Given the description of an element on the screen output the (x, y) to click on. 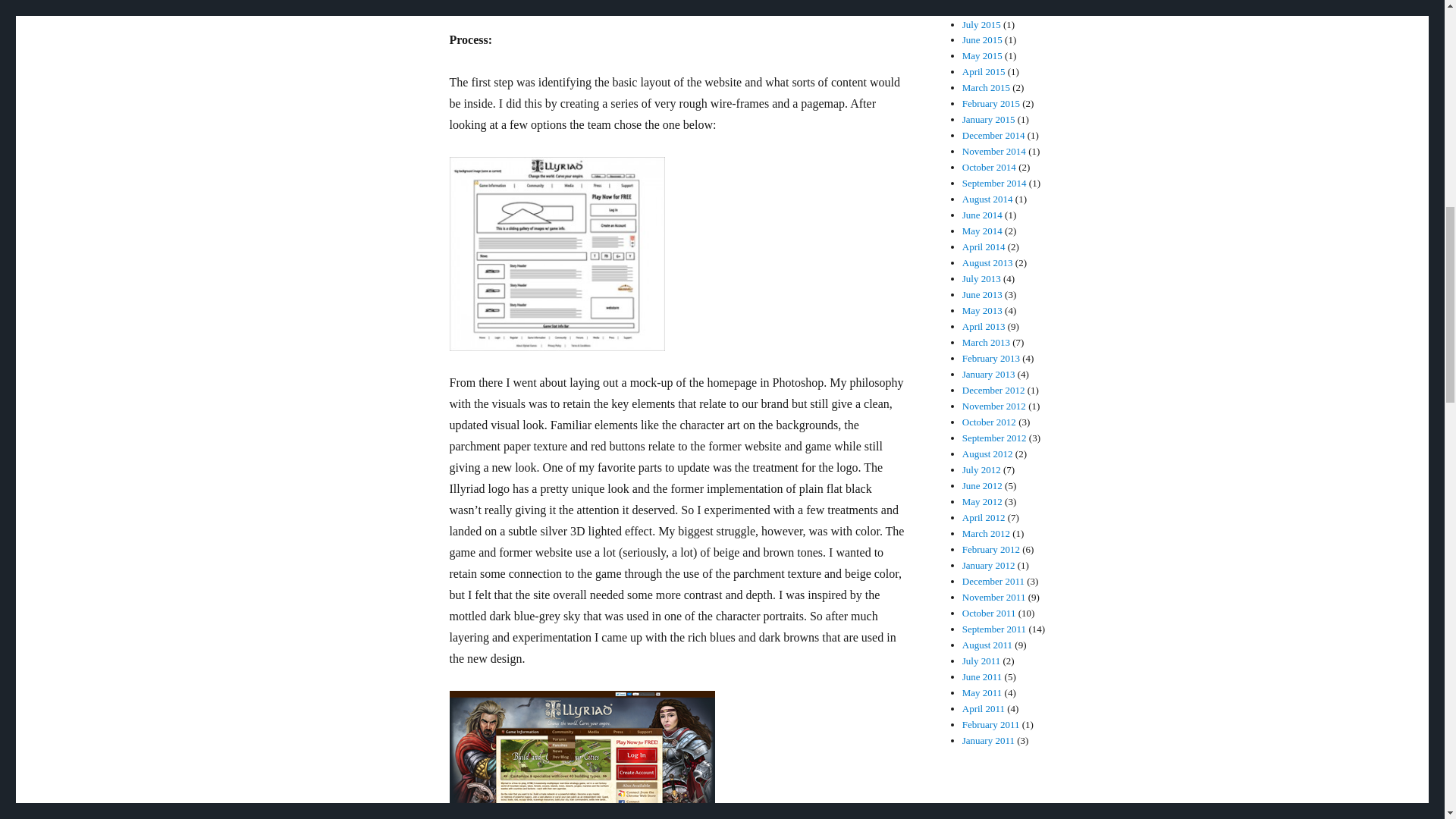
homepage wide - Op2 (581, 755)
